Given the description of an element on the screen output the (x, y) to click on. 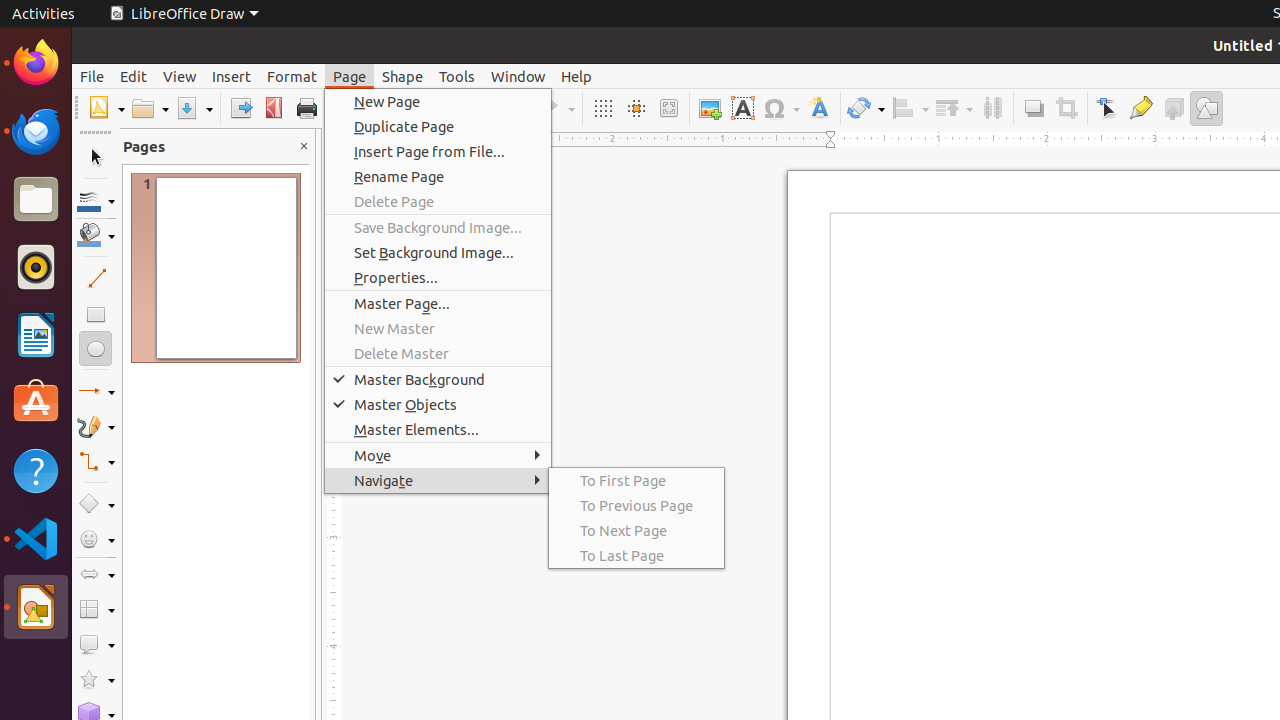
Image Element type: push-button (709, 108)
Align Element type: push-button (910, 108)
Draw Functions Element type: toggle-button (1206, 108)
Zoom & Pan Element type: push-button (668, 108)
Crop Element type: push-button (1066, 108)
